Given the description of an element on the screen output the (x, y) to click on. 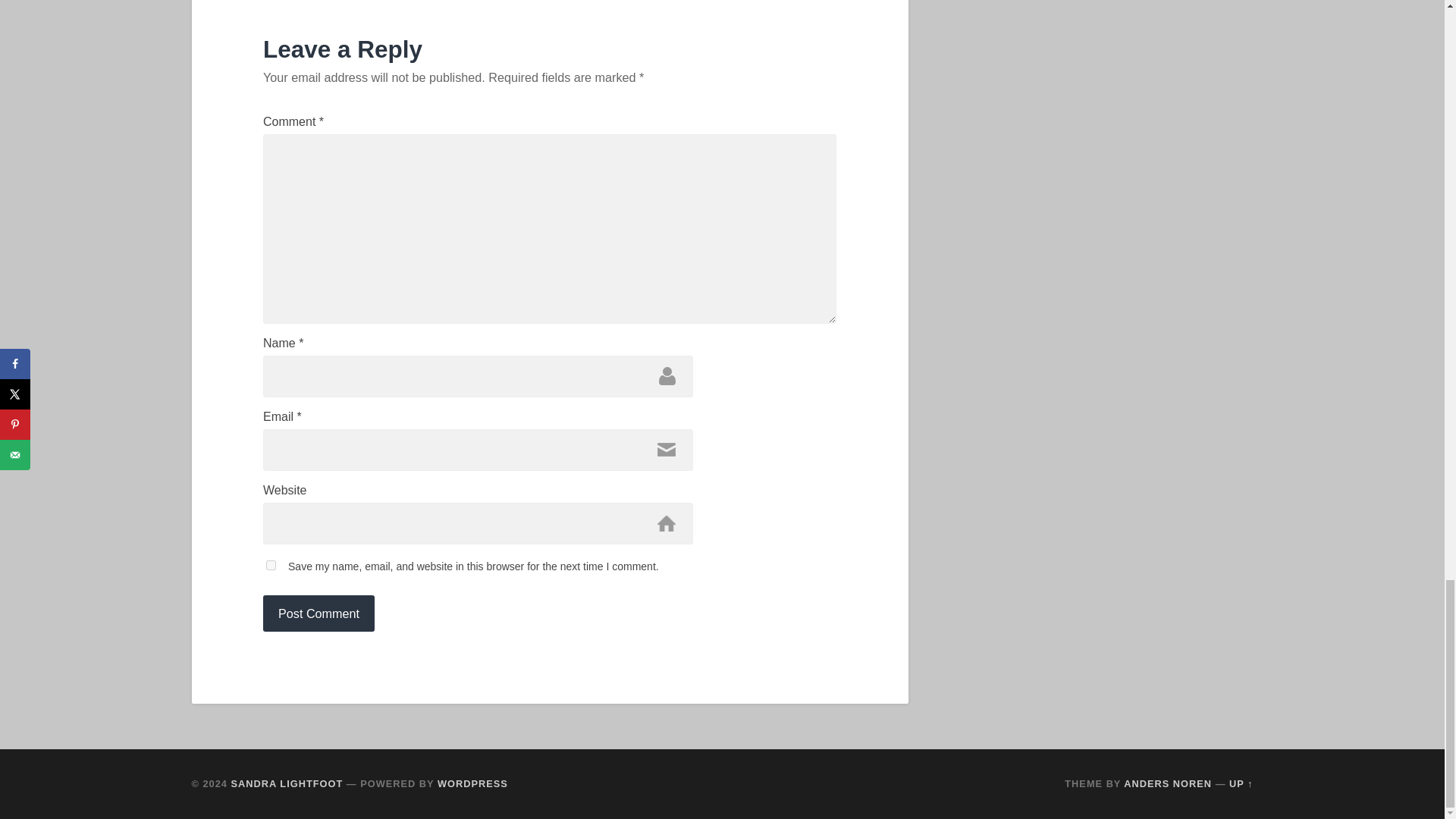
Post Comment (318, 613)
ANDERS NOREN (1167, 783)
Post Comment (318, 613)
yes (271, 565)
SANDRA LIGHTFOOT (287, 783)
WORDPRESS (473, 783)
